Given the description of an element on the screen output the (x, y) to click on. 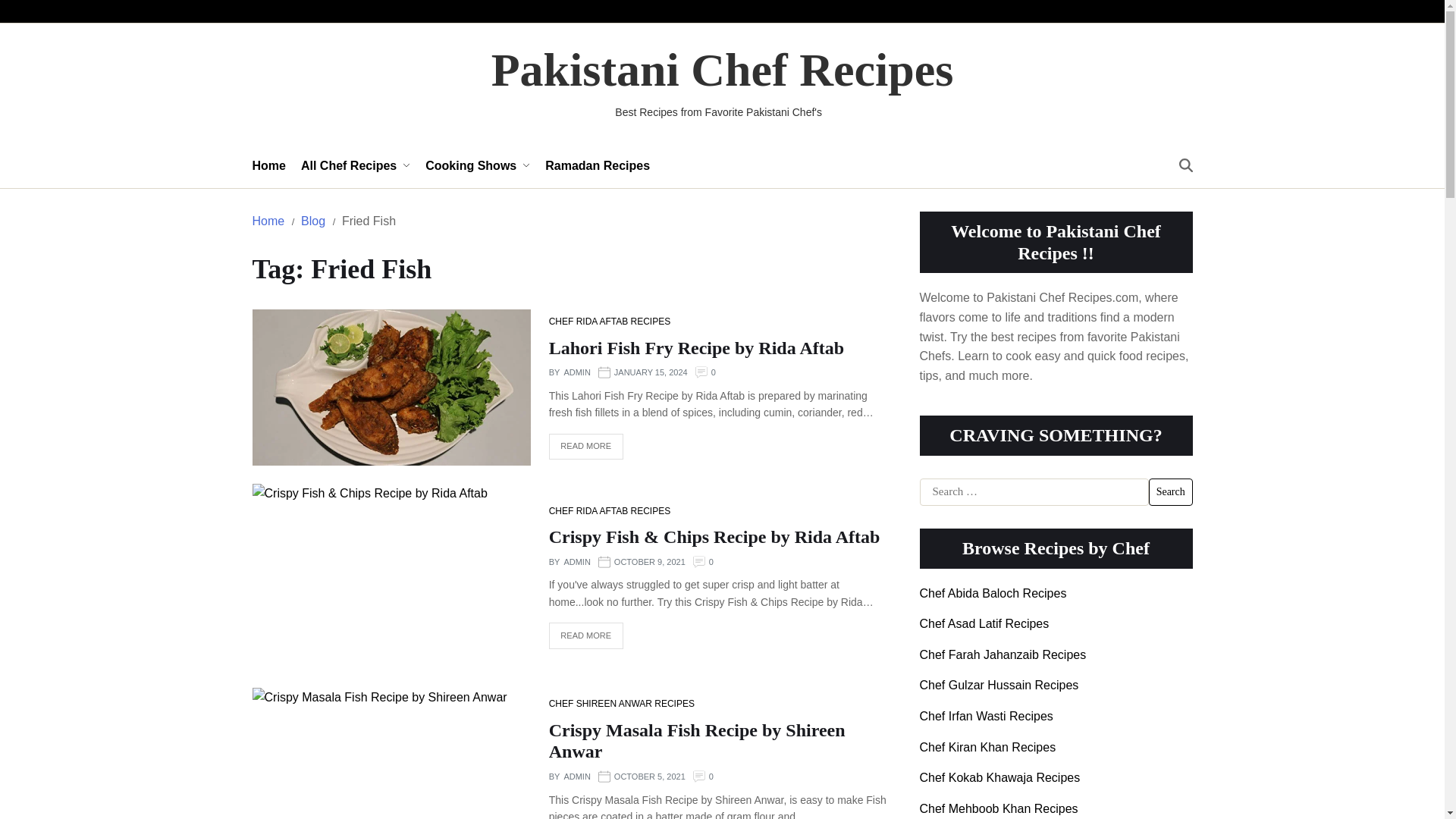
Blog (312, 220)
CHEF RIDA AFTAB RECIPES (608, 511)
All Chef Recipes (355, 165)
CHEF RIDA AFTAB RECIPES (608, 321)
Ramadan Recipes (596, 165)
ADMIN (576, 373)
Lahori Fish Fry Recipe by Rida Aftab (696, 347)
Cooking Shows (477, 165)
Search (1170, 492)
Crispy Masala Fish Recipe by Shireen Anwar (696, 741)
